Given the description of an element on the screen output the (x, y) to click on. 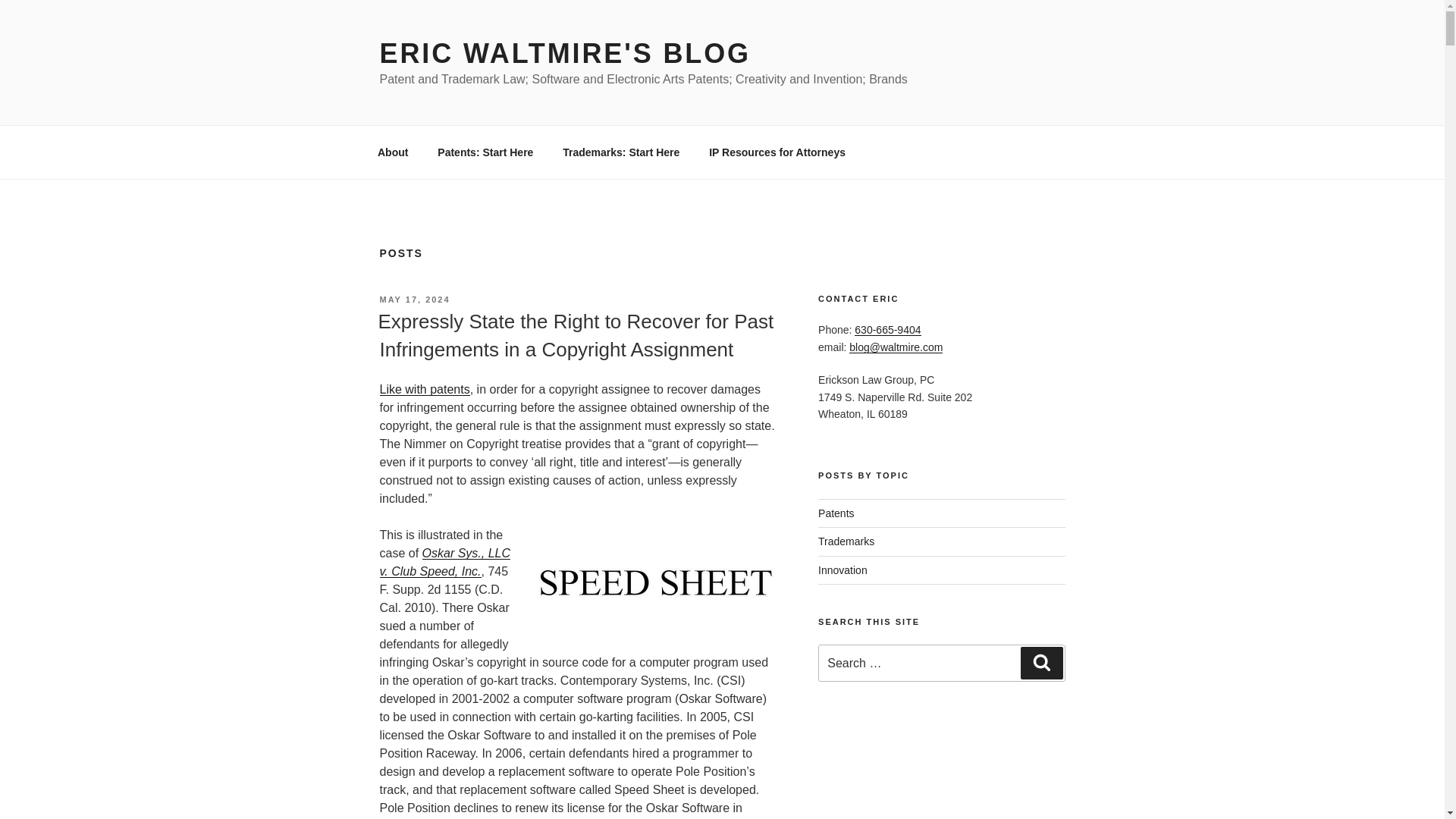
MAY 17, 2024 (413, 298)
ERIC WALTMIRE'S BLOG (563, 52)
Oskar Sys., LLC v. Club Speed, Inc. (444, 562)
Patents: Start Here (486, 151)
IP Resources for Attorneys (777, 151)
Trademarks: Start Here (621, 151)
About (392, 151)
Like with patents (423, 389)
